Given the description of an element on the screen output the (x, y) to click on. 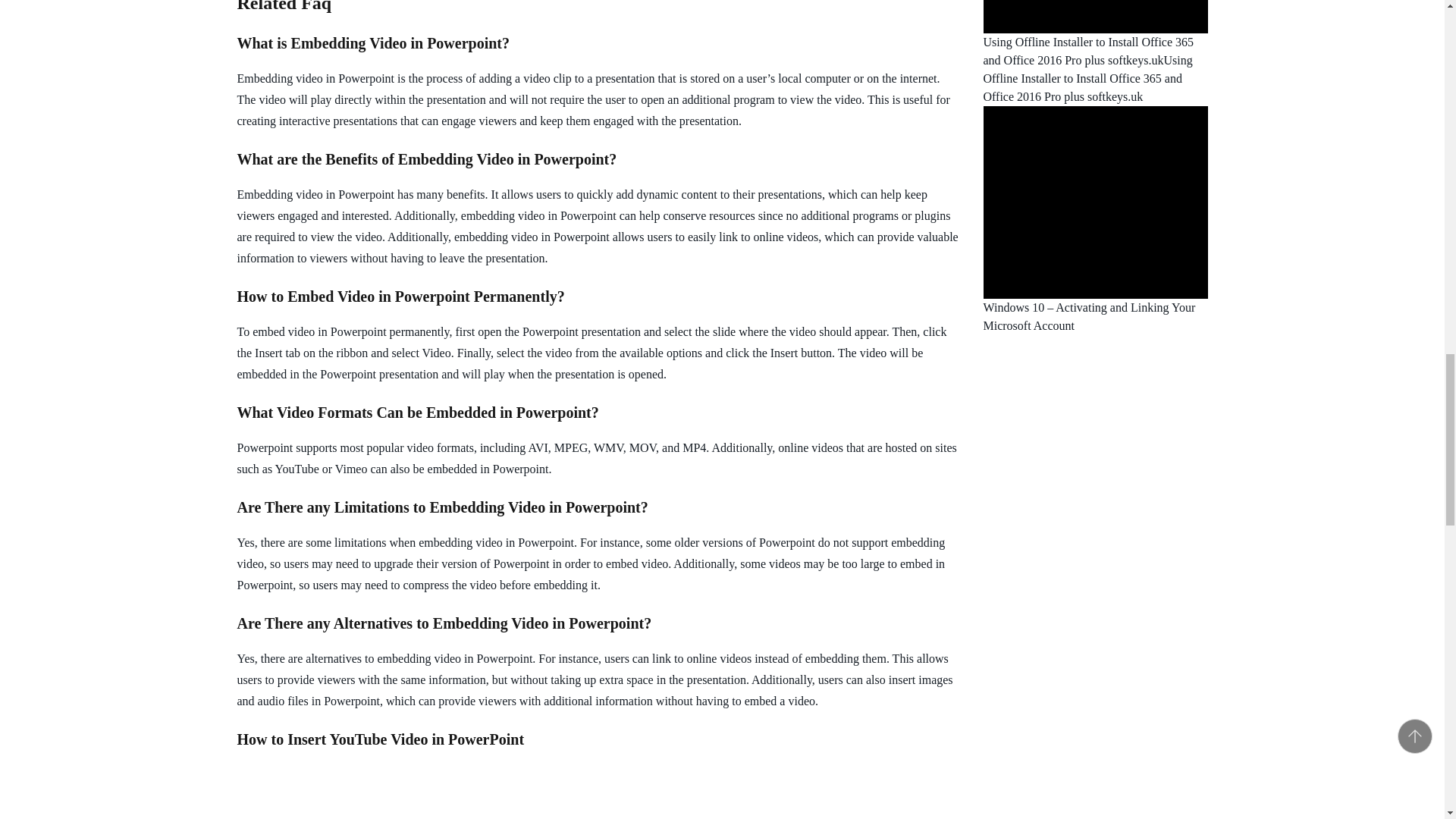
How to Insert YouTube Video in PowerPoint (448, 791)
